Given the description of an element on the screen output the (x, y) to click on. 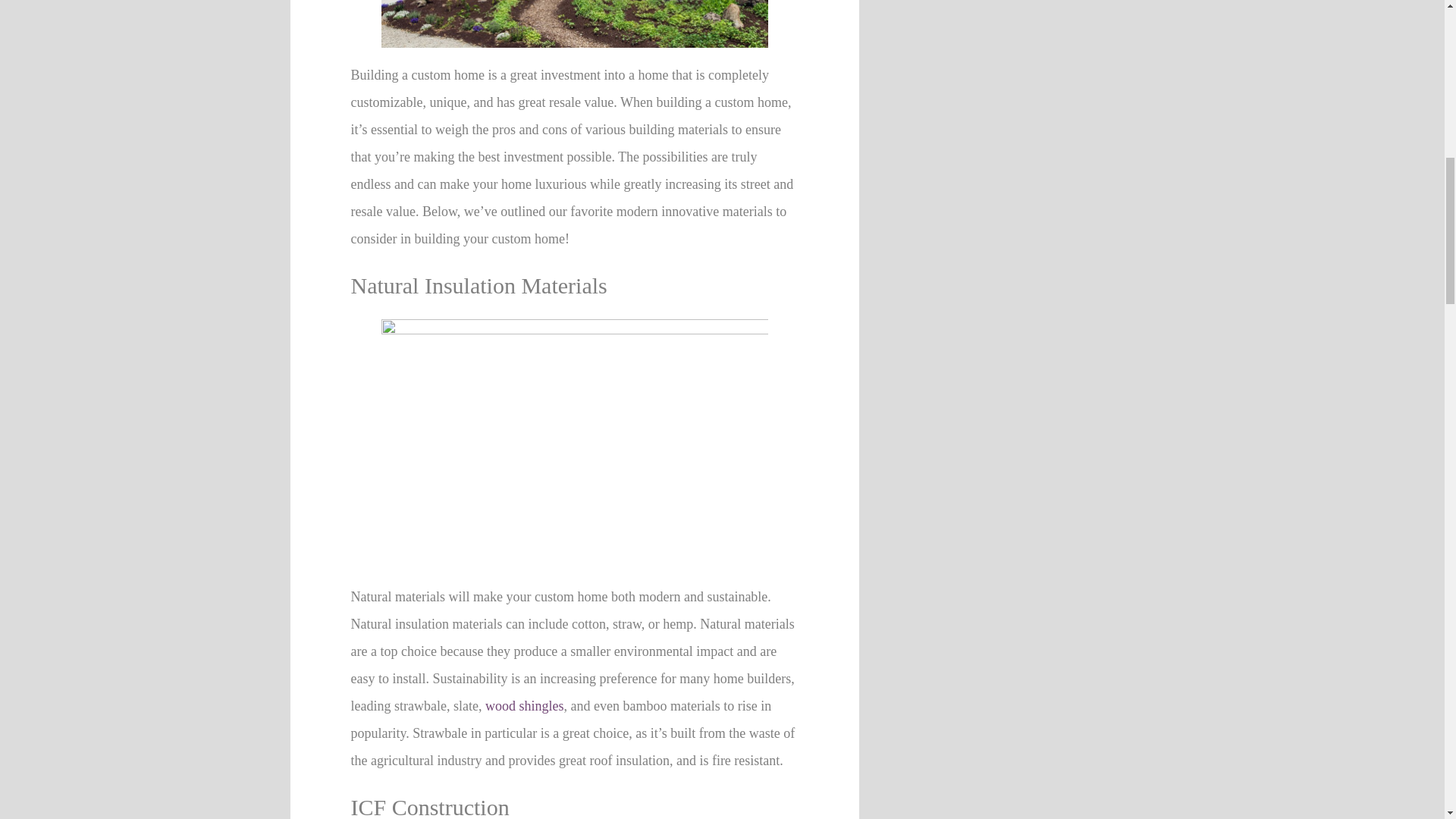
wood shingles (524, 705)
